Given the description of an element on the screen output the (x, y) to click on. 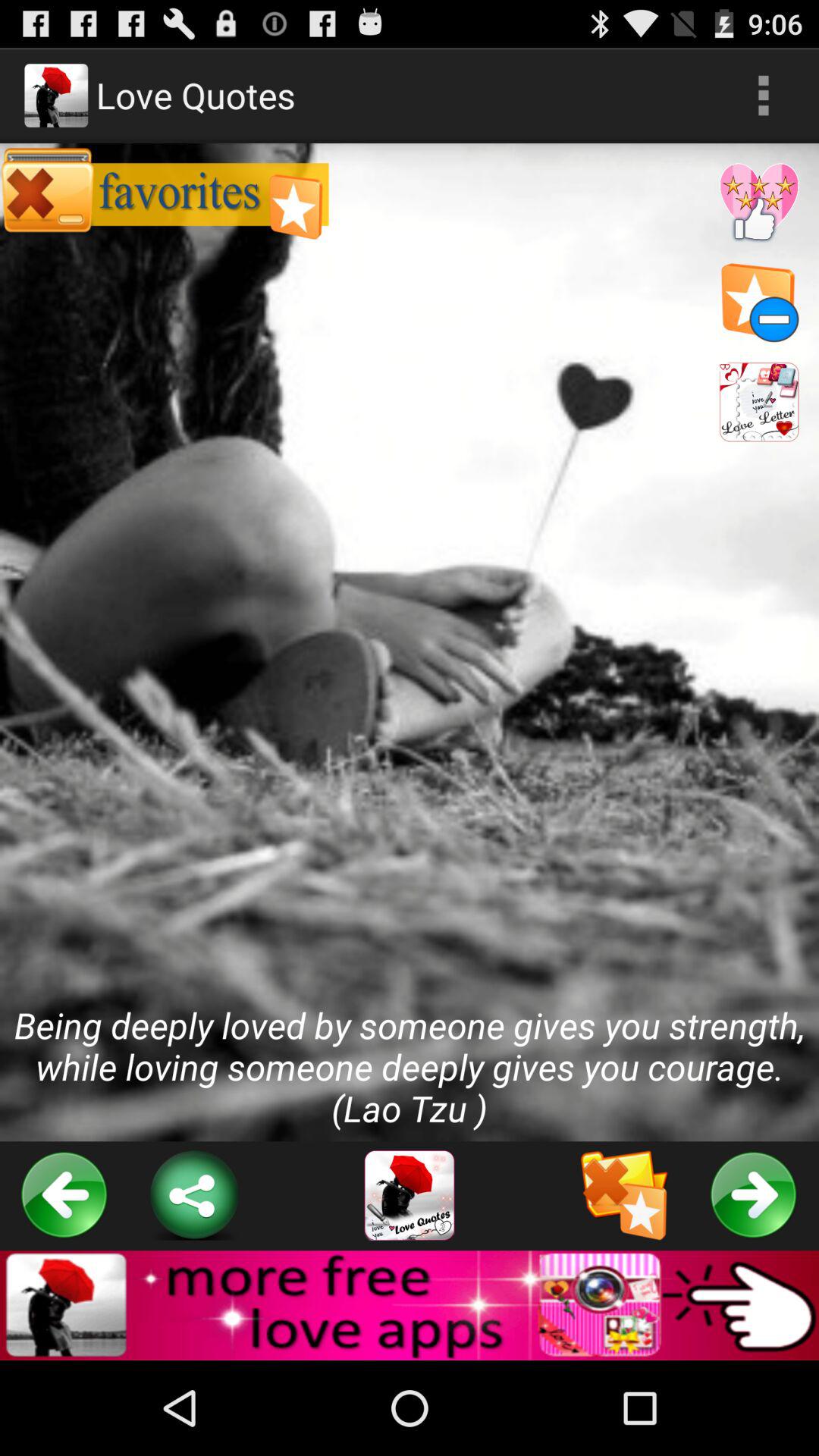
open the icon above being deeply loved icon (763, 95)
